Given the description of an element on the screen output the (x, y) to click on. 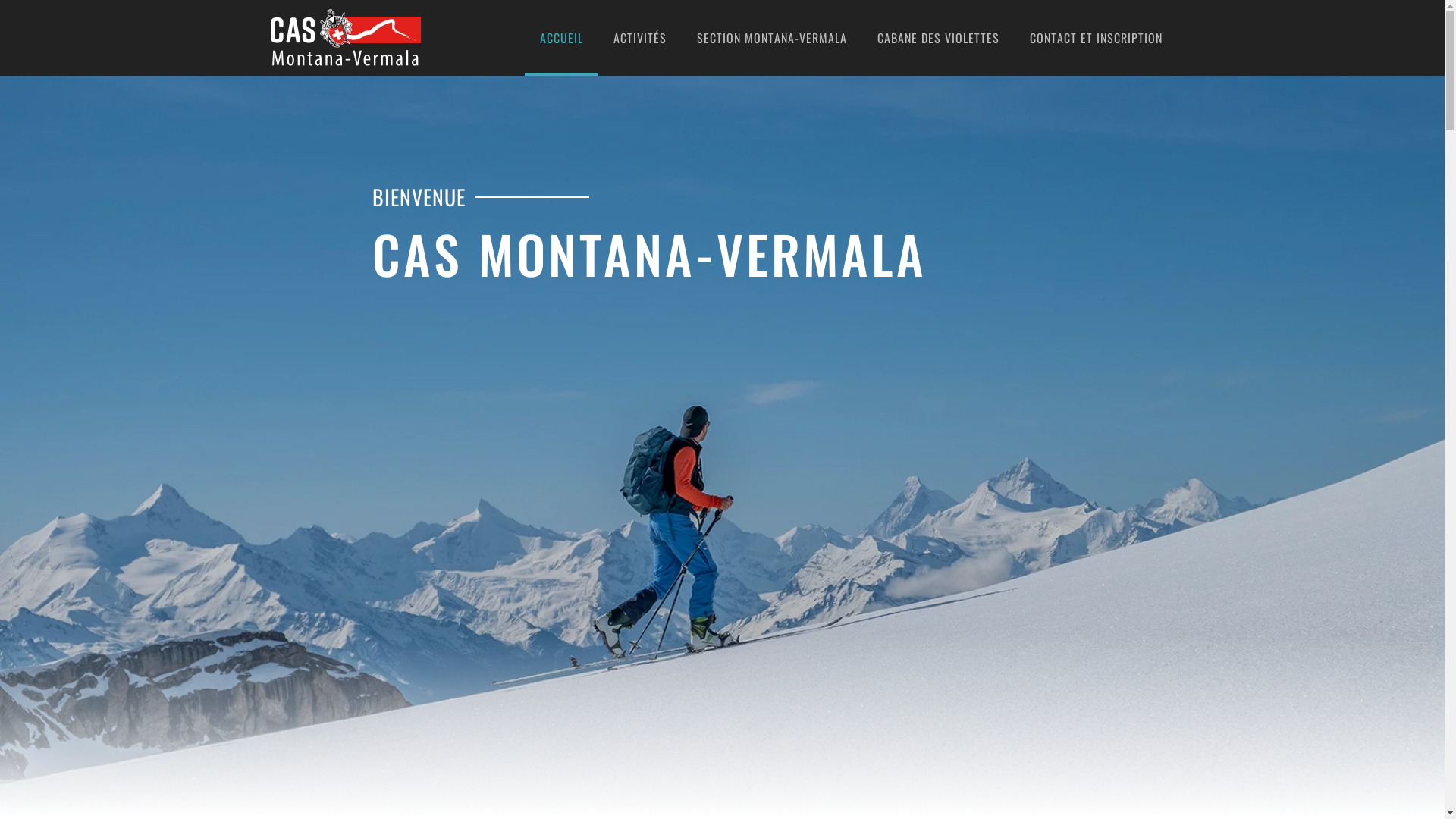
ACCUEIL Element type: text (561, 37)
CABANE DES VIOLETTES Element type: text (937, 37)
SECTION MONTANA-VERMALA Element type: text (770, 37)
CONTACT ET INSCRIPTION Element type: text (1095, 37)
